Given the description of an element on the screen output the (x, y) to click on. 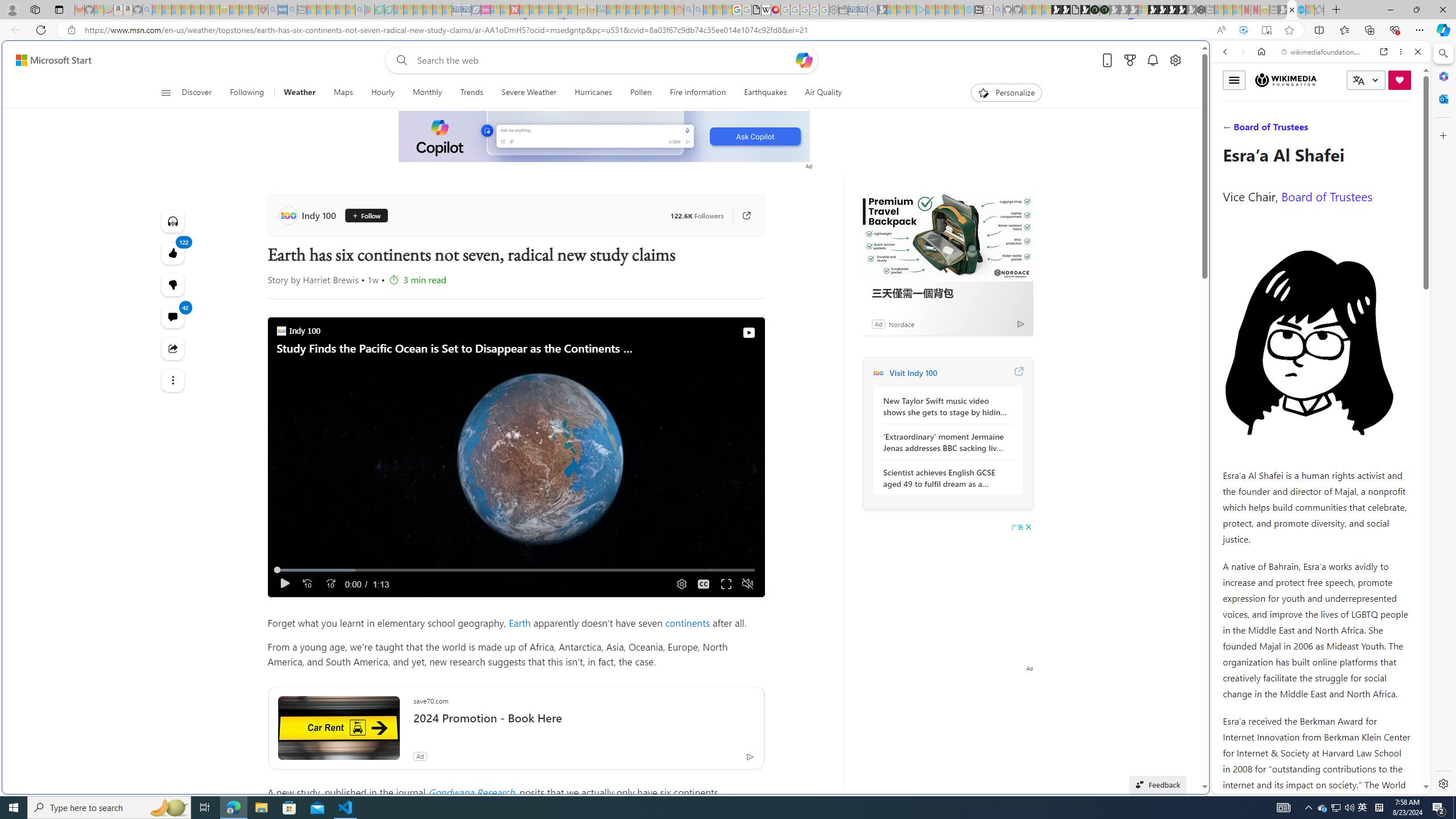
Air Quality (818, 92)
Pollen (641, 92)
